Given the description of an element on the screen output the (x, y) to click on. 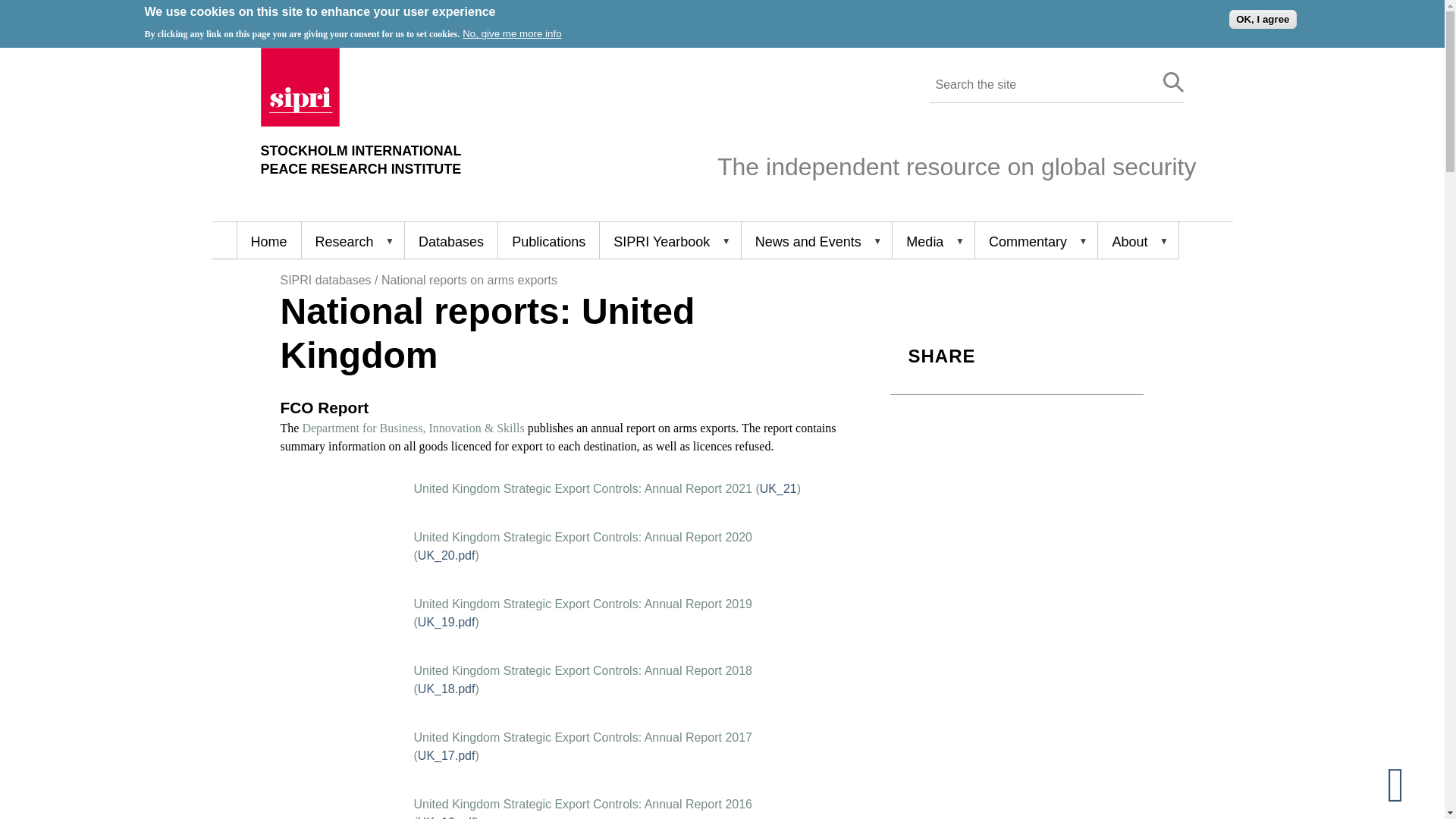
Databases (450, 240)
SIPRI's research (352, 240)
SIPRI's databases (450, 240)
Recent and upcoming news and events (816, 240)
No, give me more info (511, 33)
Enter the terms you wish to search for. (1039, 84)
OK, I agree (360, 159)
Search (1261, 18)
Home (1174, 82)
Search (299, 122)
Publications (1174, 82)
Home (547, 240)
Skip to main content (267, 240)
